Given the description of an element on the screen output the (x, y) to click on. 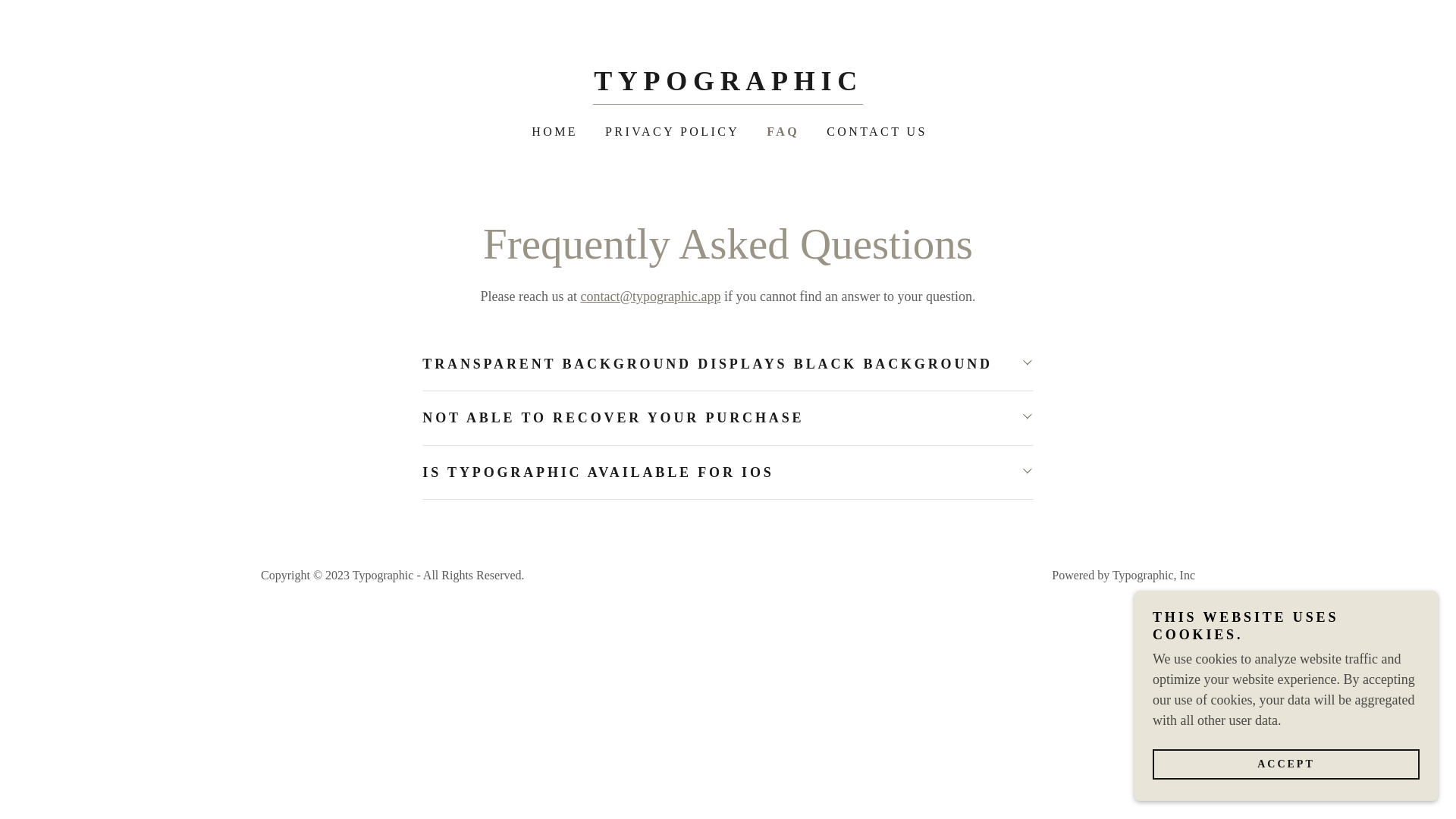
CONTACT US (874, 131)
ACCEPT (1286, 764)
PRIVACY POLICY (670, 131)
FAQ (780, 131)
IS TYPOGRAPHIC AVAILABLE FOR IOS (727, 472)
TRANSPARENT BACKGROUND DISPLAYS BLACK BACKGROUND (727, 364)
TYPOGRAPHIC (727, 85)
HOME (553, 131)
Typographic (727, 85)
NOT ABLE TO RECOVER YOUR PURCHASE (727, 418)
